Given the description of an element on the screen output the (x, y) to click on. 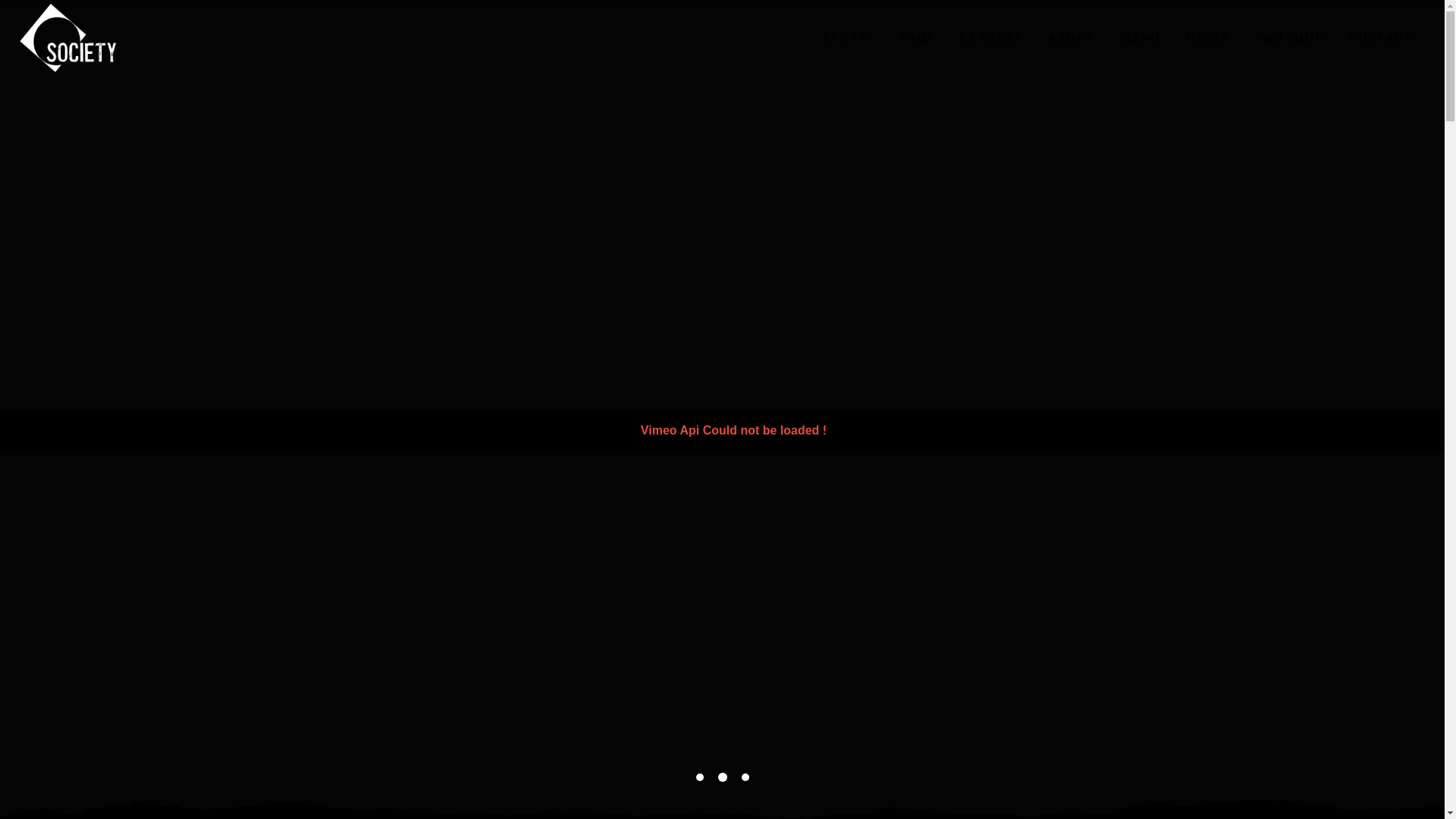
ABOUT (1070, 37)
PRO SHOP (1289, 37)
LEAGUES (991, 37)
CONTACT (1380, 37)
EVENTS (847, 37)
MEDIA (1207, 37)
